Given the description of an element on the screen output the (x, y) to click on. 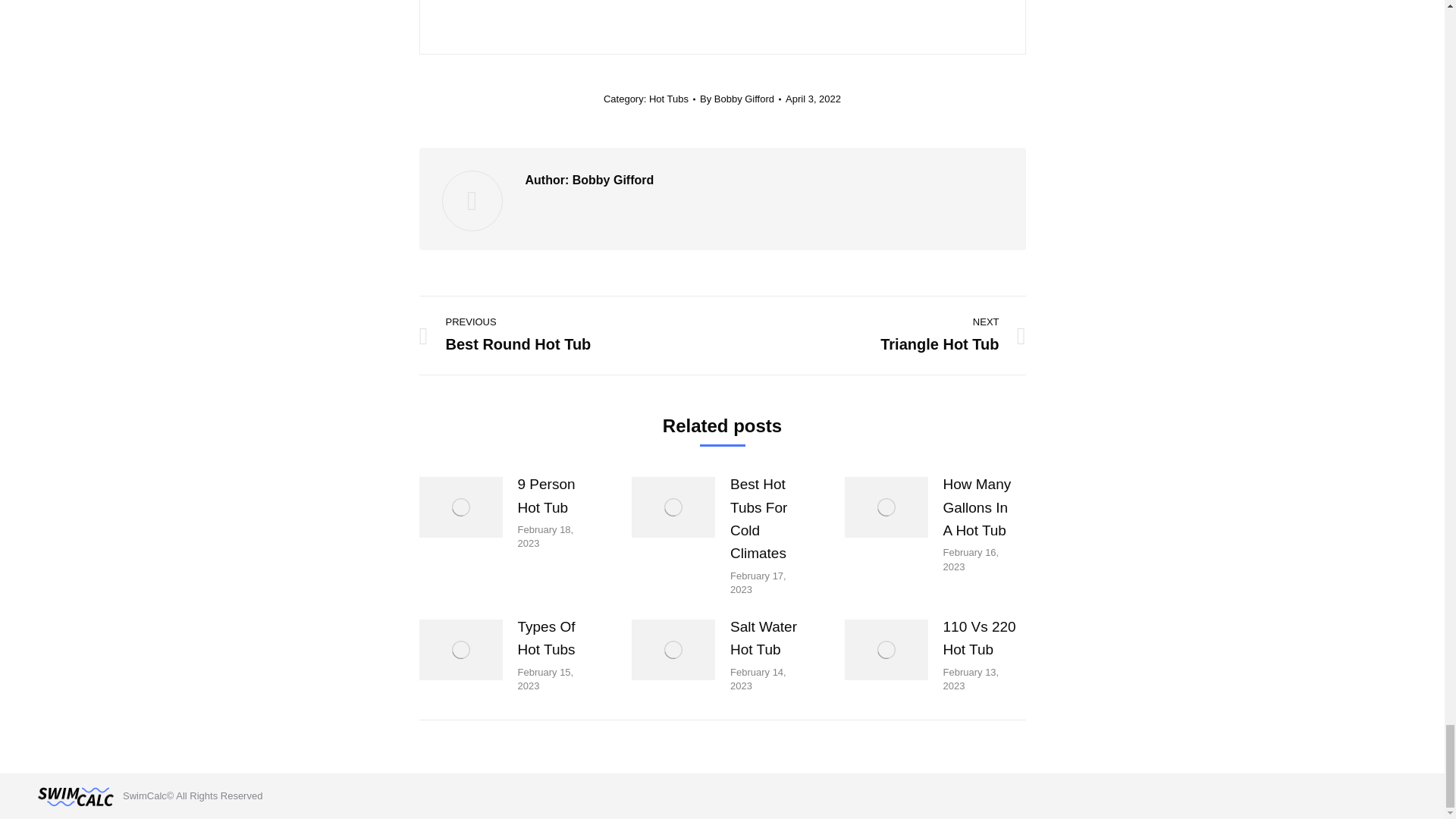
8:01 am (813, 99)
View all posts by Bobby Gifford (740, 99)
Hot Tubs (668, 98)
April 3, 2022 (884, 335)
By Bobby Gifford (813, 99)
